Given the description of an element on the screen output the (x, y) to click on. 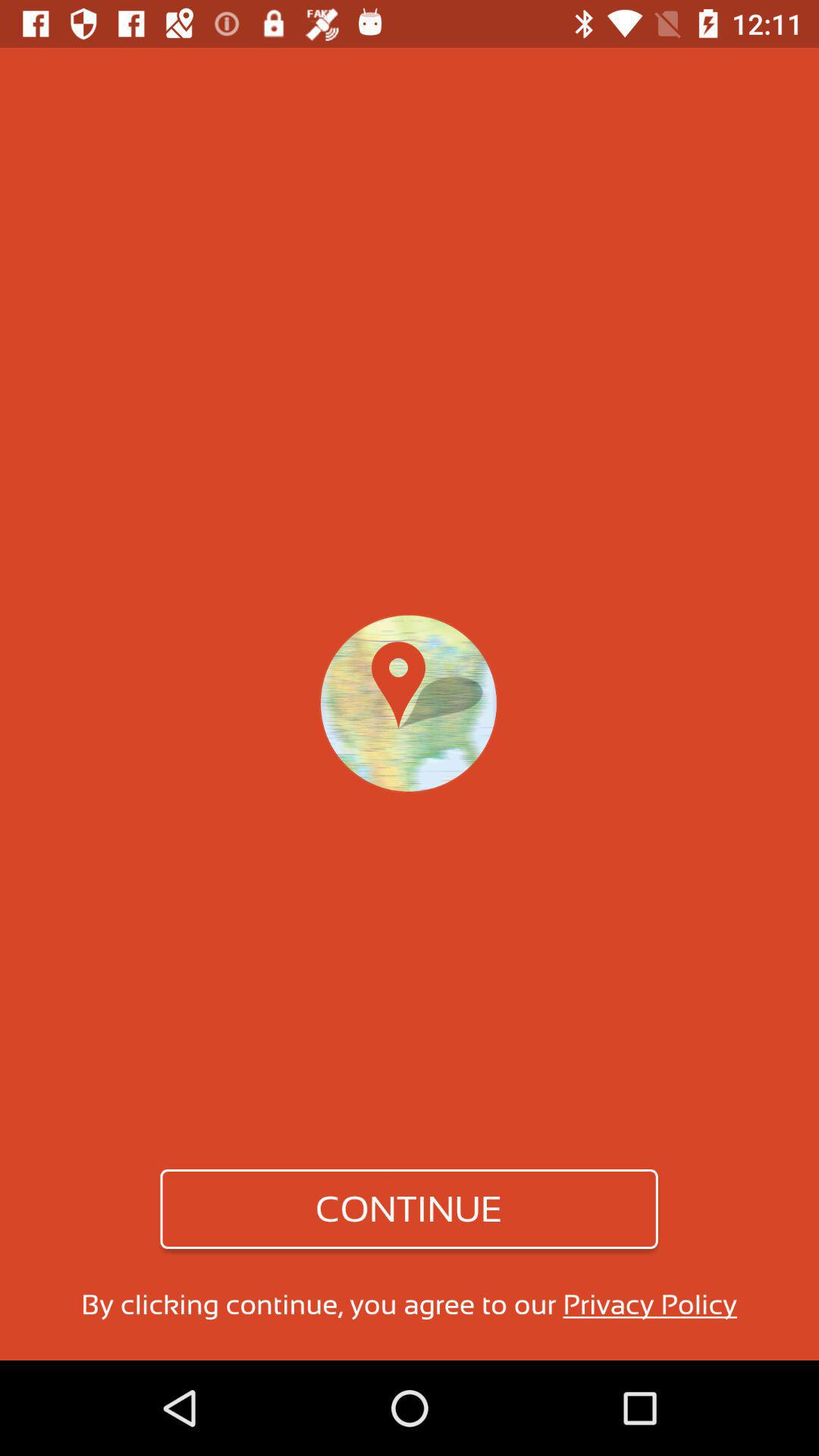
click the by clicking continue icon (409, 1304)
